Given the description of an element on the screen output the (x, y) to click on. 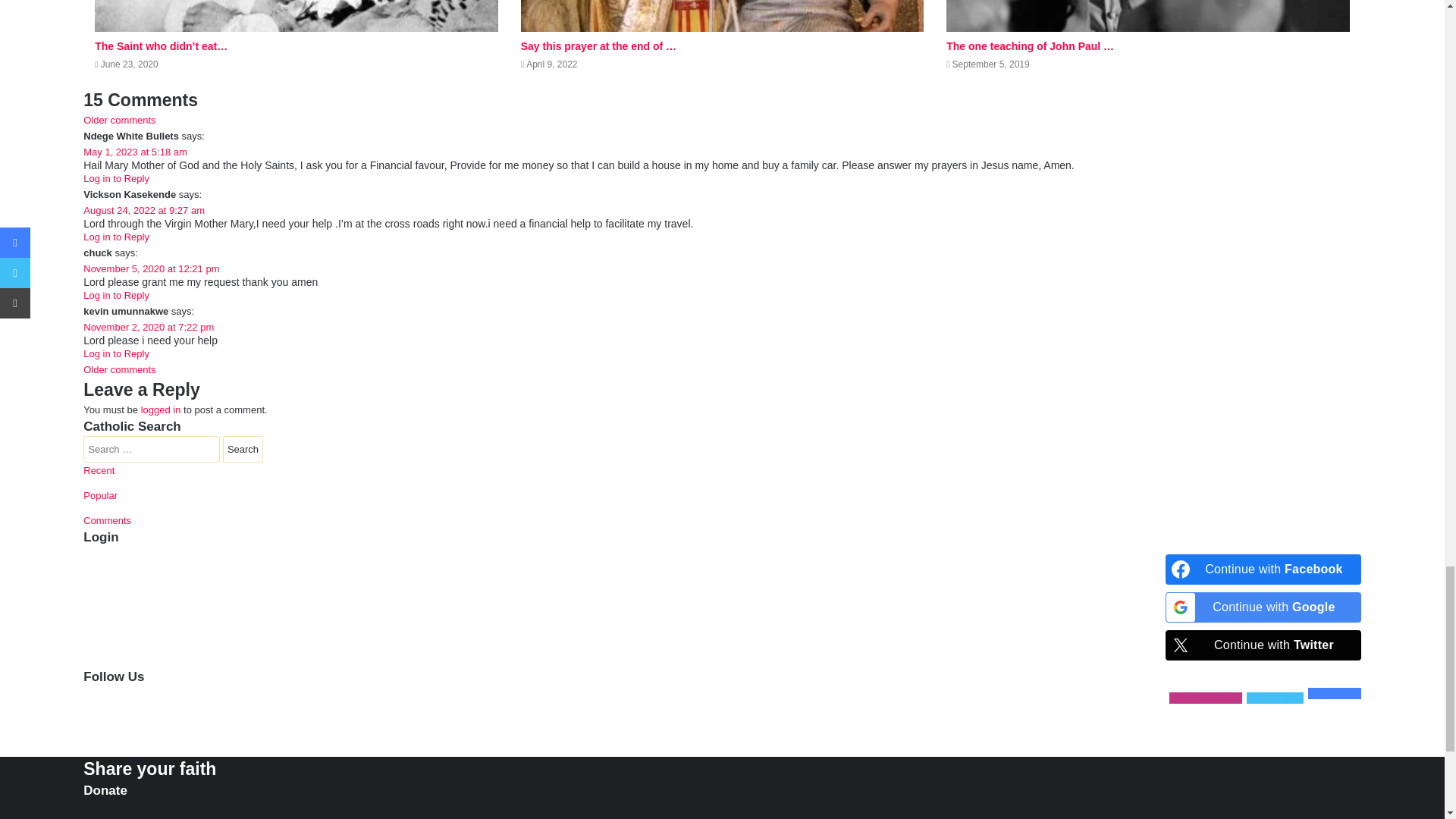
Search (242, 448)
Search (242, 448)
